Given the description of an element on the screen output the (x, y) to click on. 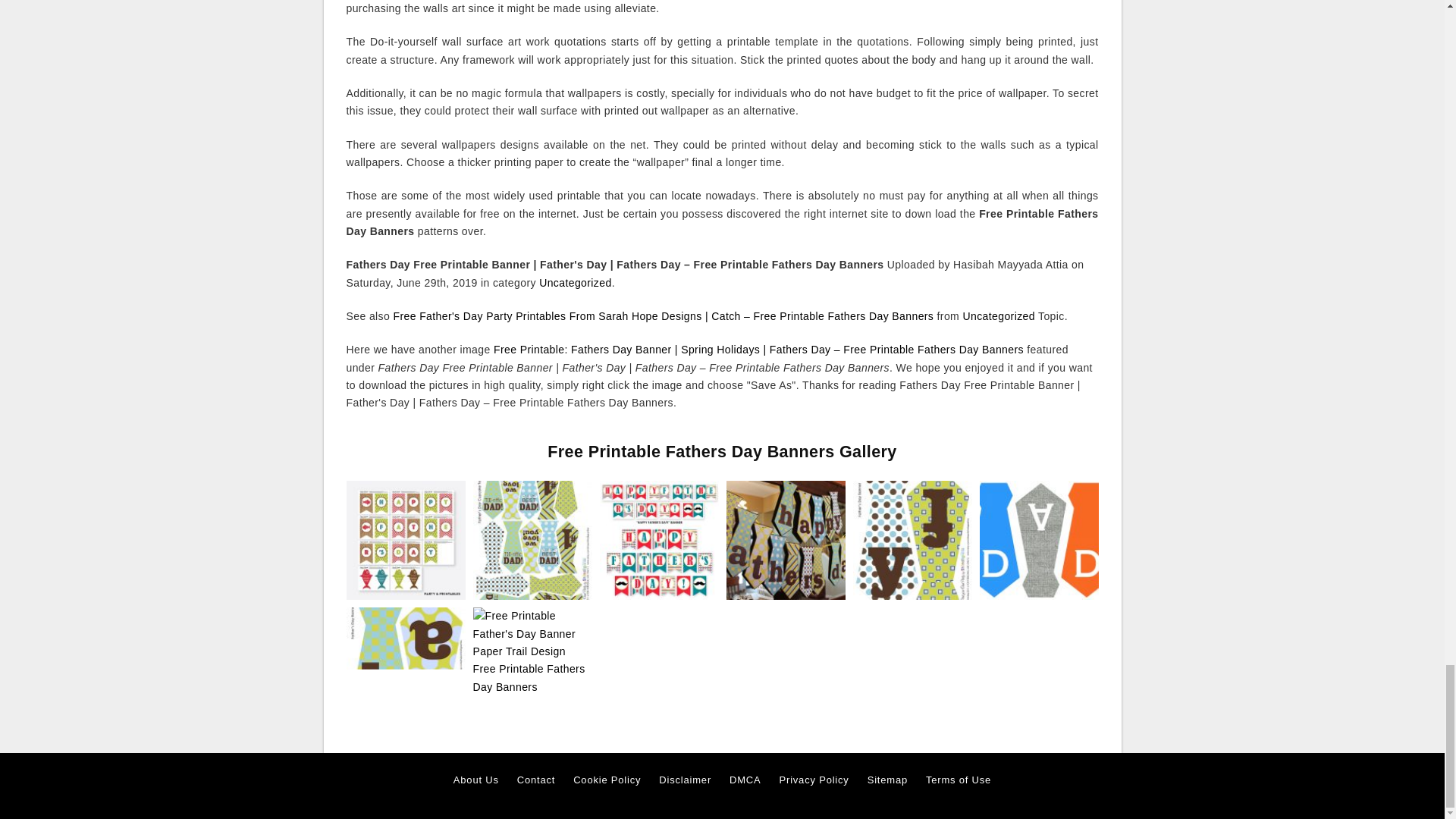
Uncategorized (574, 282)
DMCA (744, 780)
Privacy Policy (813, 780)
Disclaimer (685, 780)
Uncategorized (997, 316)
Sitemap (887, 780)
About Us (475, 780)
Cookie Policy (606, 780)
Contact (535, 780)
